Given the description of an element on the screen output the (x, y) to click on. 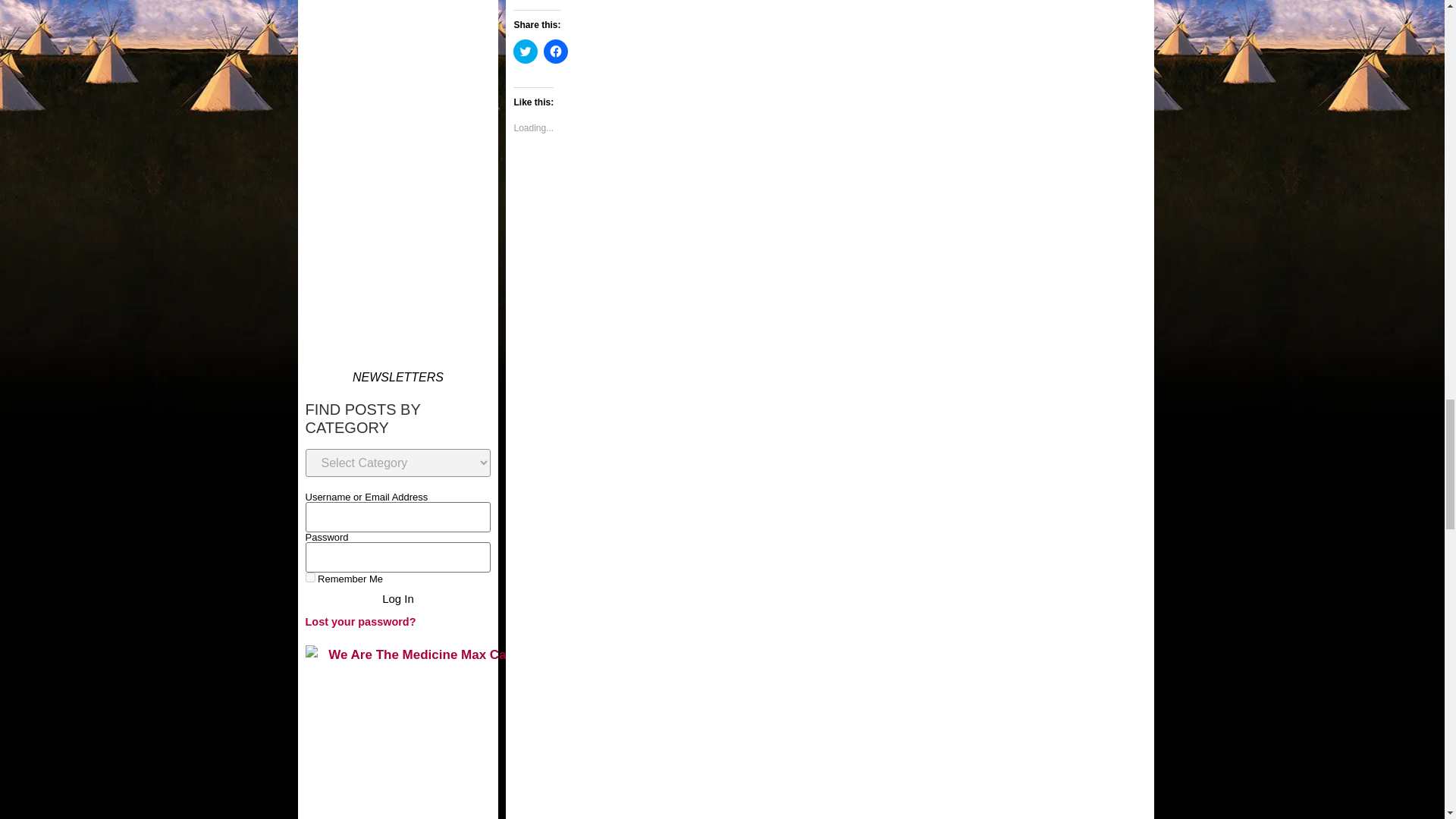
forever (309, 576)
Click to share on Twitter (525, 51)
Click to share on Facebook (555, 51)
